Given the description of an element on the screen output the (x, y) to click on. 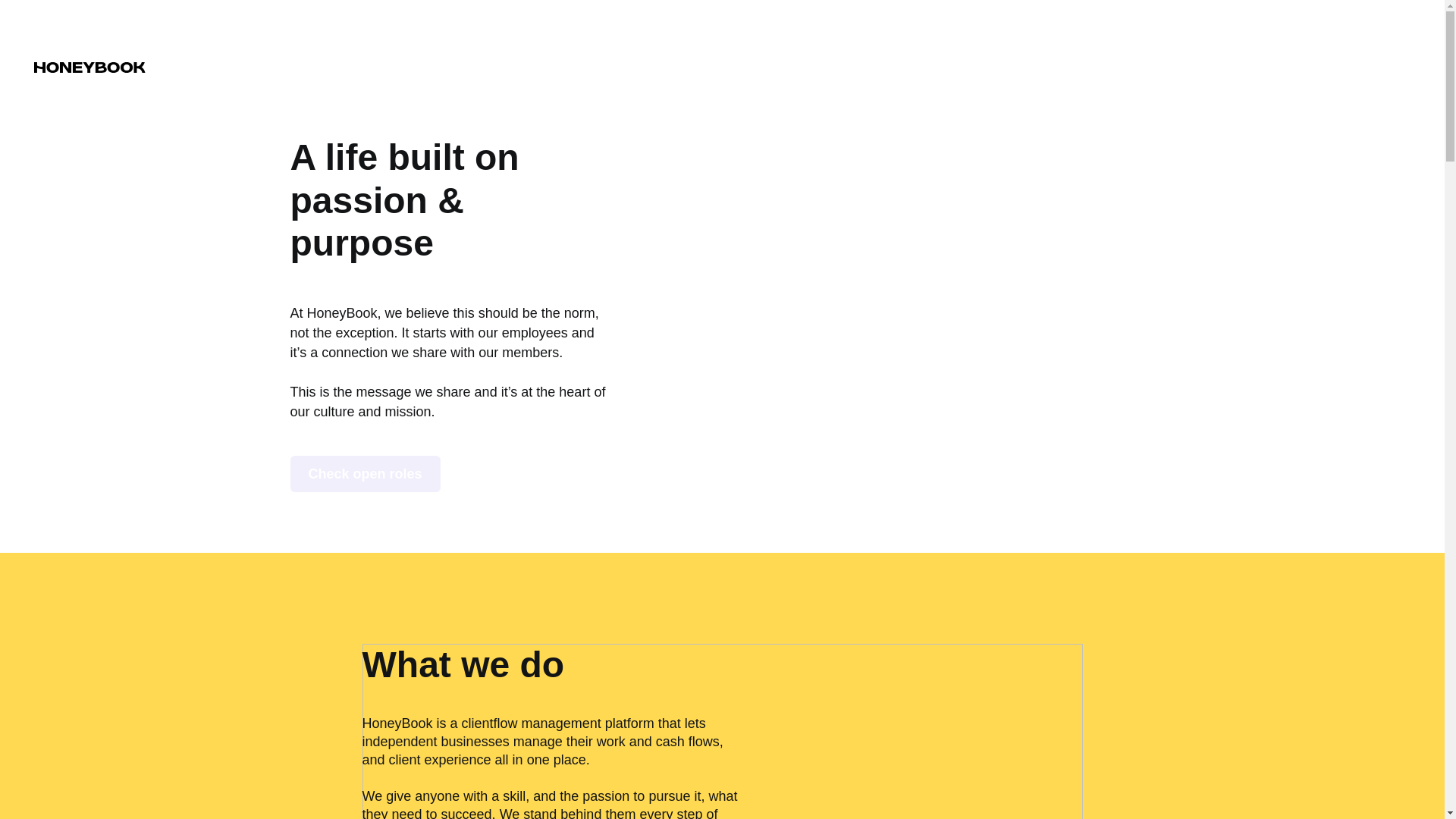
Check open roles (364, 473)
